Given the description of an element on the screen output the (x, y) to click on. 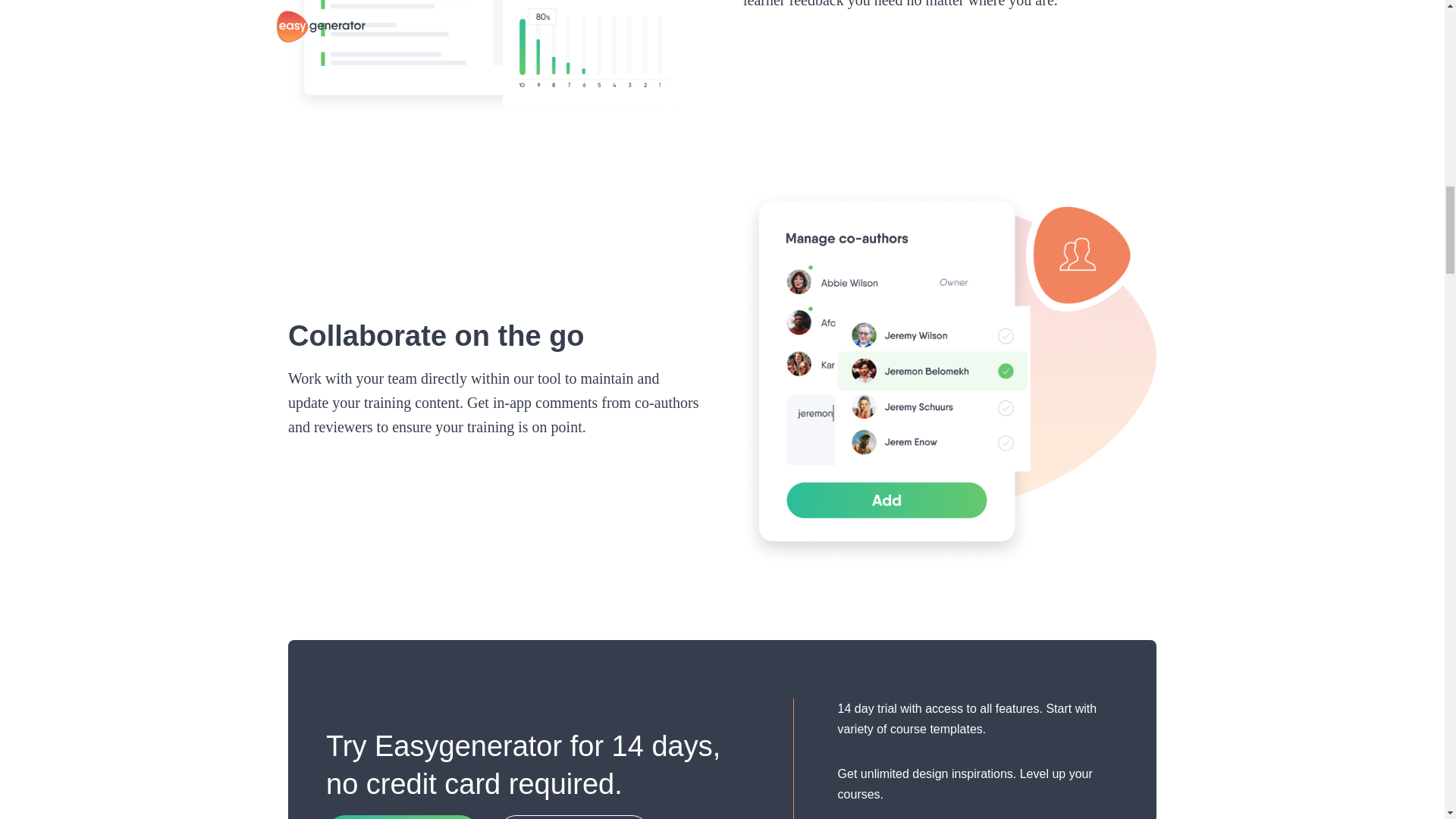
Book a demo (573, 816)
Start a free trial (402, 816)
